Given the description of an element on the screen output the (x, y) to click on. 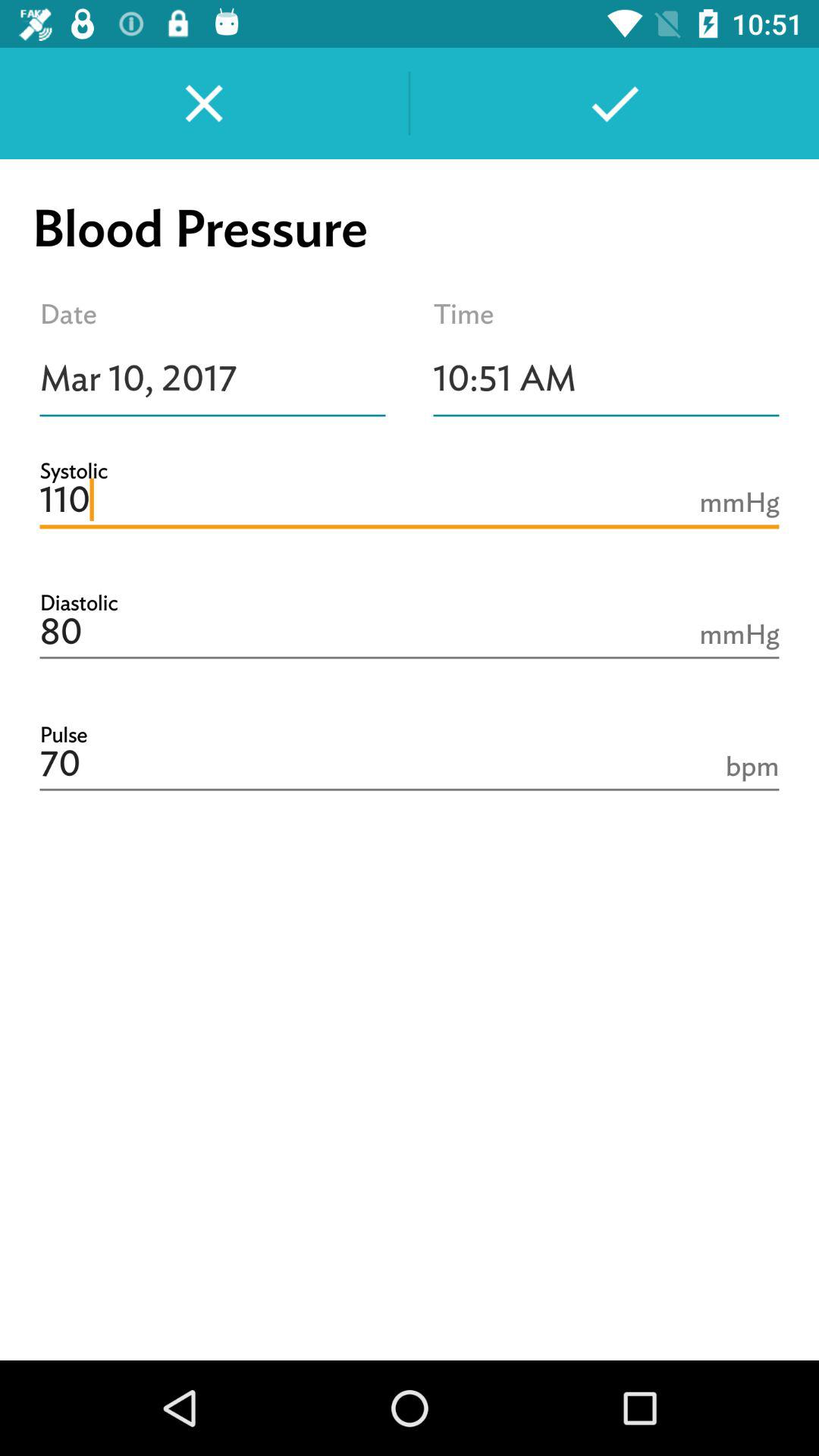
jump to mar 10, 2017 (212, 378)
